Given the description of an element on the screen output the (x, y) to click on. 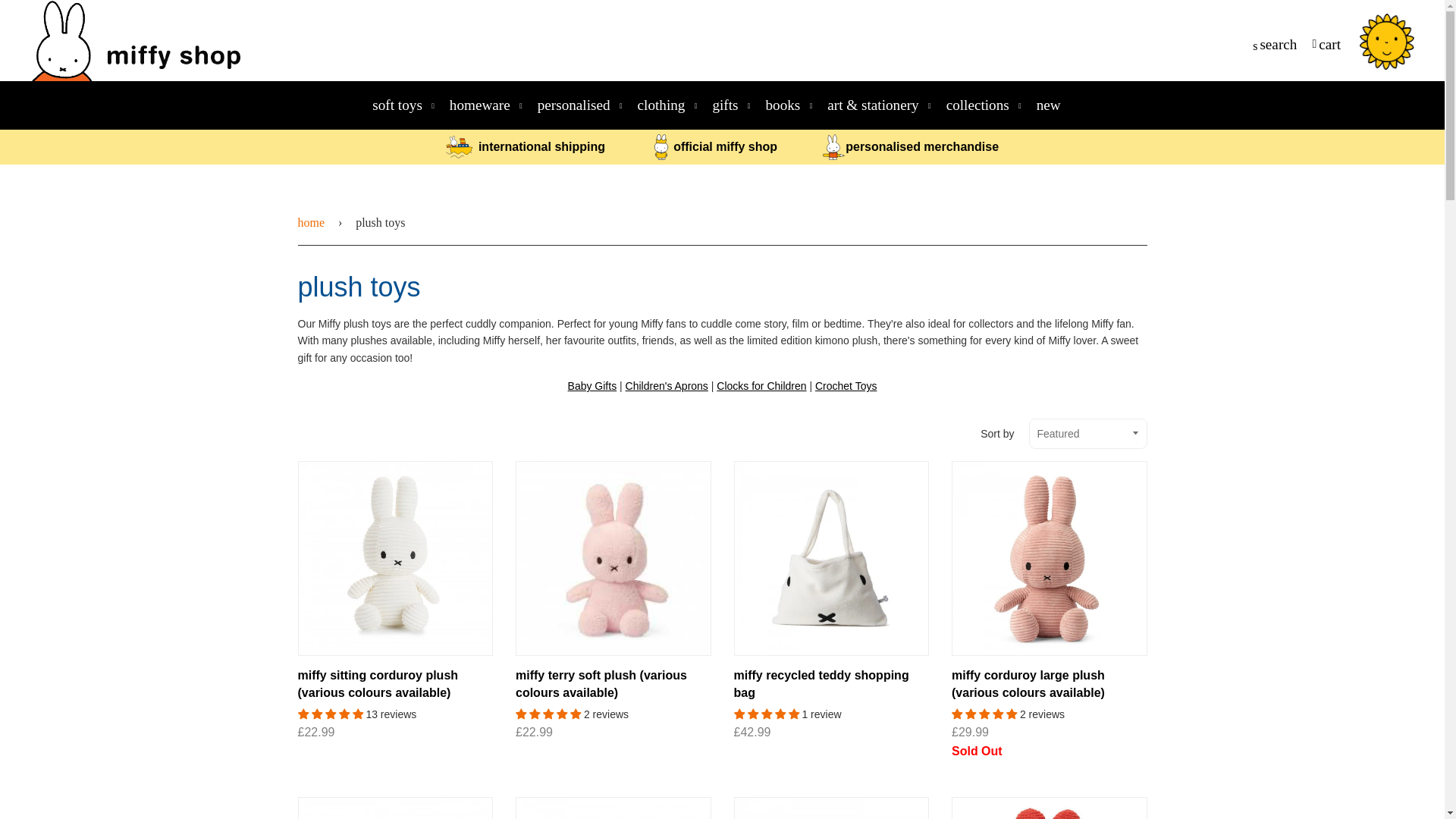
children's apron (666, 386)
crochet toys (845, 386)
Back to the home page (313, 222)
baby gifts (592, 386)
clocks for children (761, 386)
